Given the description of an element on the screen output the (x, y) to click on. 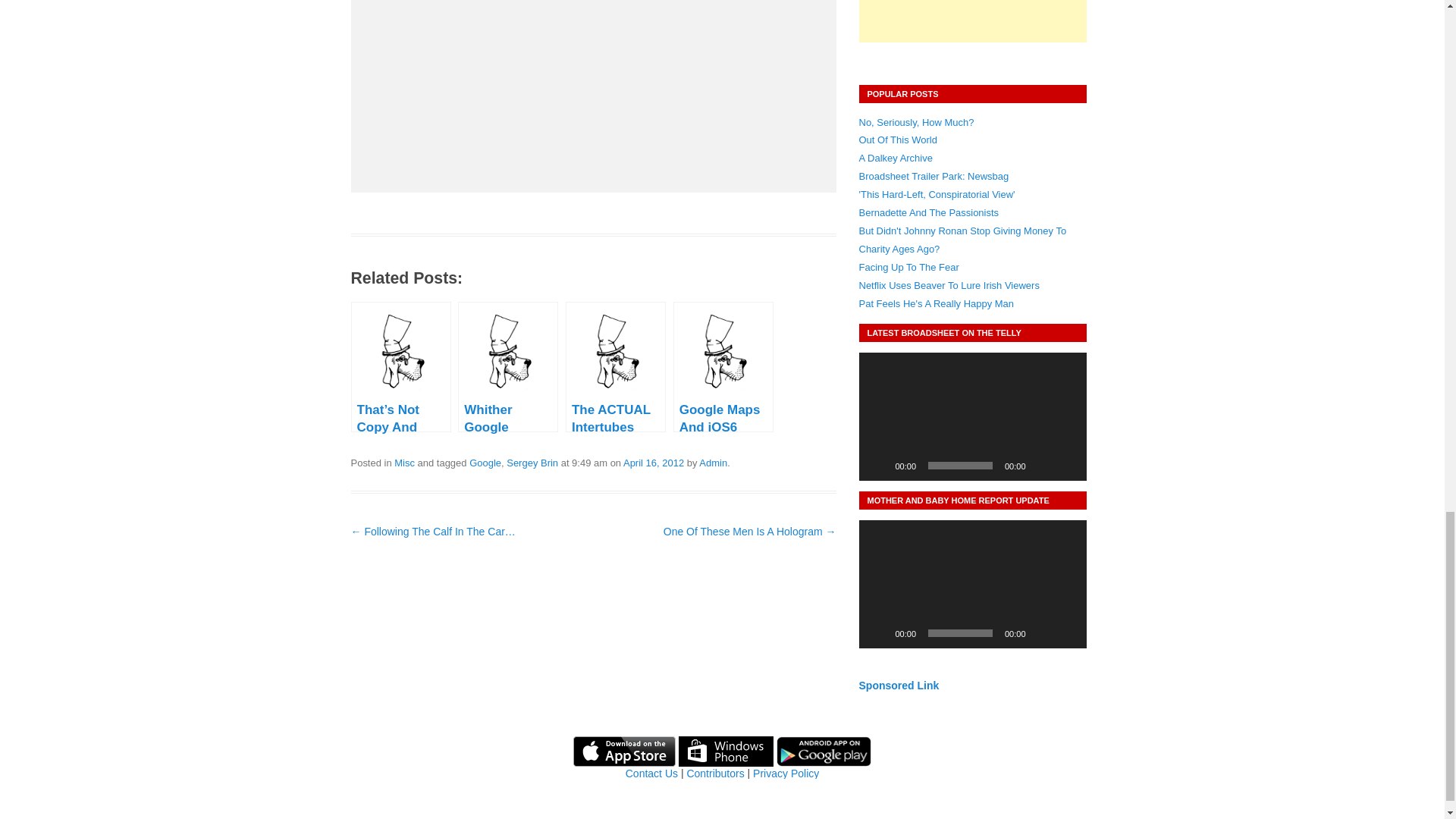
Sergey Brin (531, 462)
Misc (404, 462)
View all posts by Admin (712, 462)
Google (484, 462)
9:49 am (653, 462)
Admin (712, 462)
April 16, 2012 (653, 462)
